Given the description of an element on the screen output the (x, y) to click on. 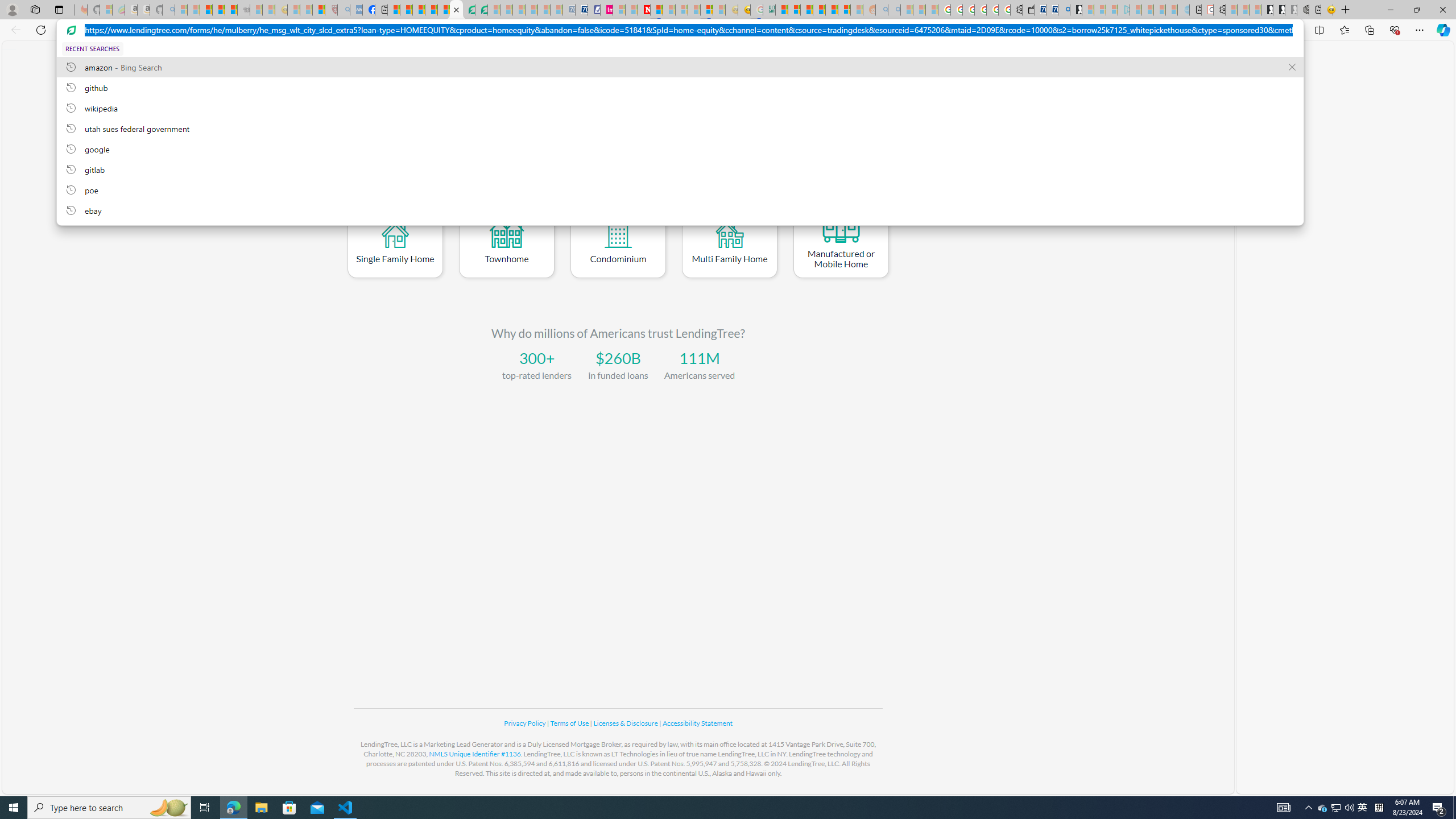
wikipedia, recent searches from history (679, 107)
Kinda Frugal - MSN (832, 9)
